Given the description of an element on the screen output the (x, y) to click on. 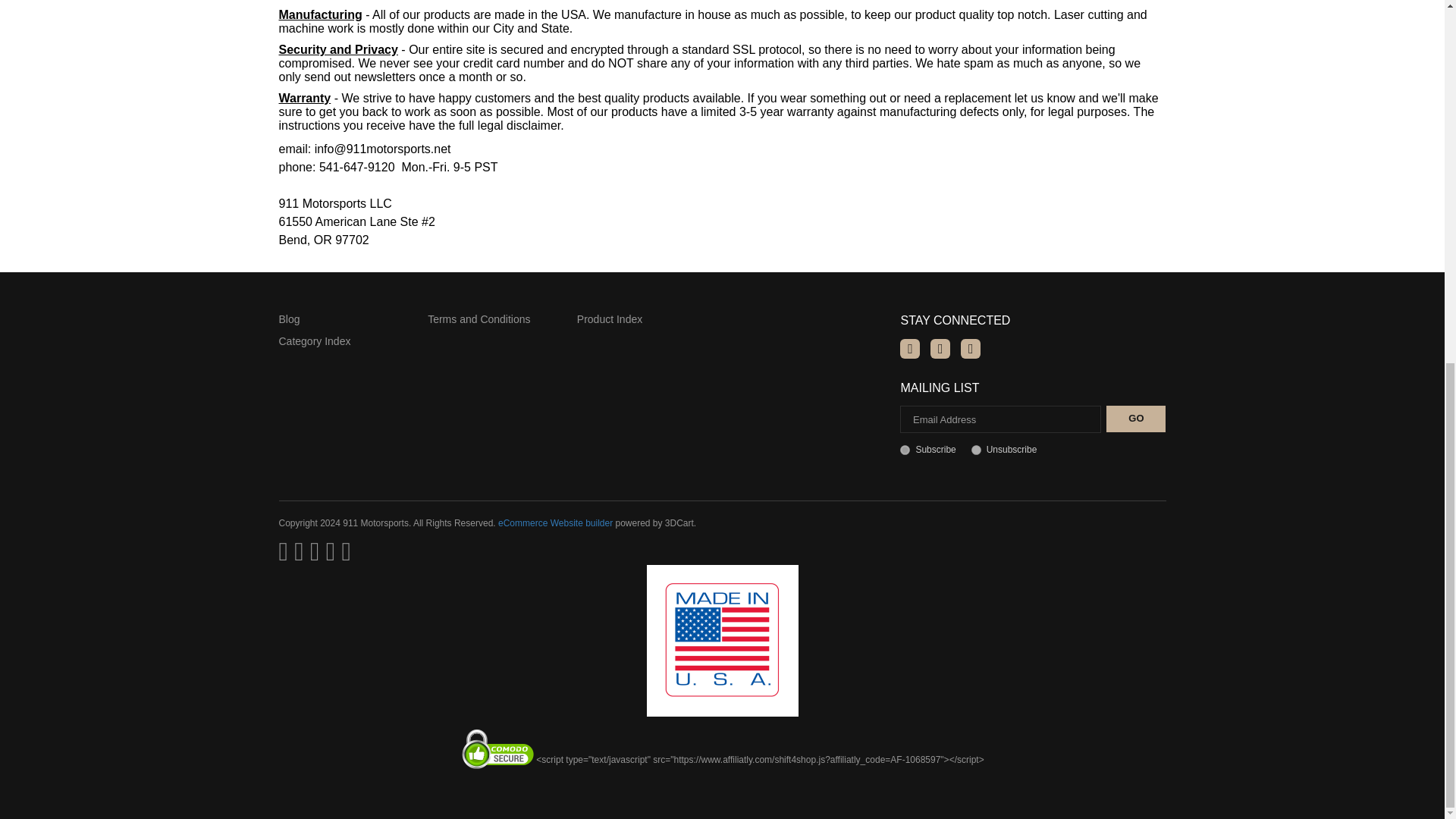
1 (904, 450)
Subscribe to our Channel (940, 348)
Follow Us on Instagram (969, 348)
Like Us on Facebook (909, 348)
0 (976, 450)
